Given the description of an element on the screen output the (x, y) to click on. 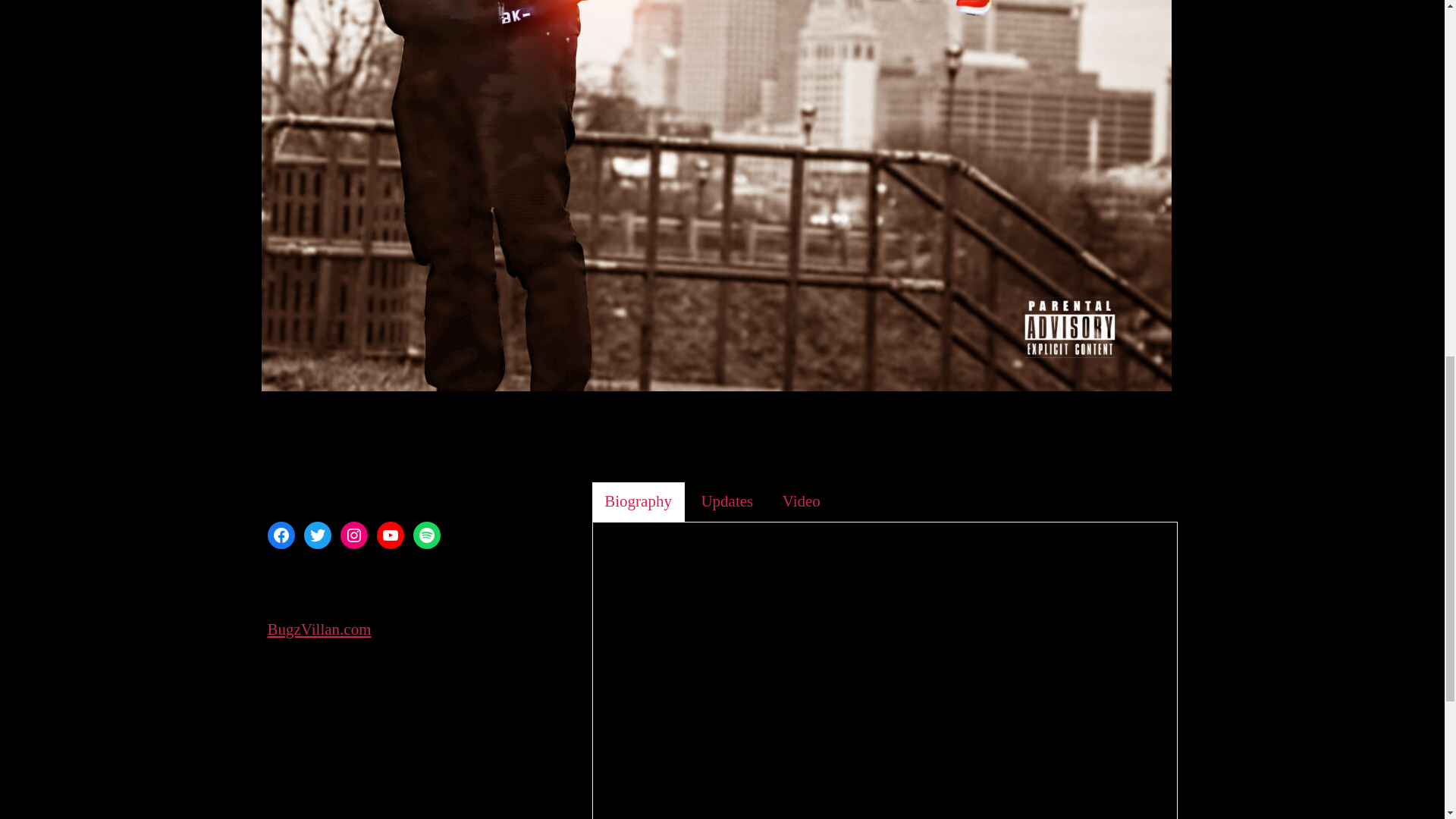
BugzVillan.com (318, 629)
Facebook (280, 534)
Biography (638, 502)
Updates (726, 502)
Twitter (316, 534)
Spotify (425, 534)
Video (801, 502)
Instagram (352, 534)
YouTube (389, 534)
